Given the description of an element on the screen output the (x, y) to click on. 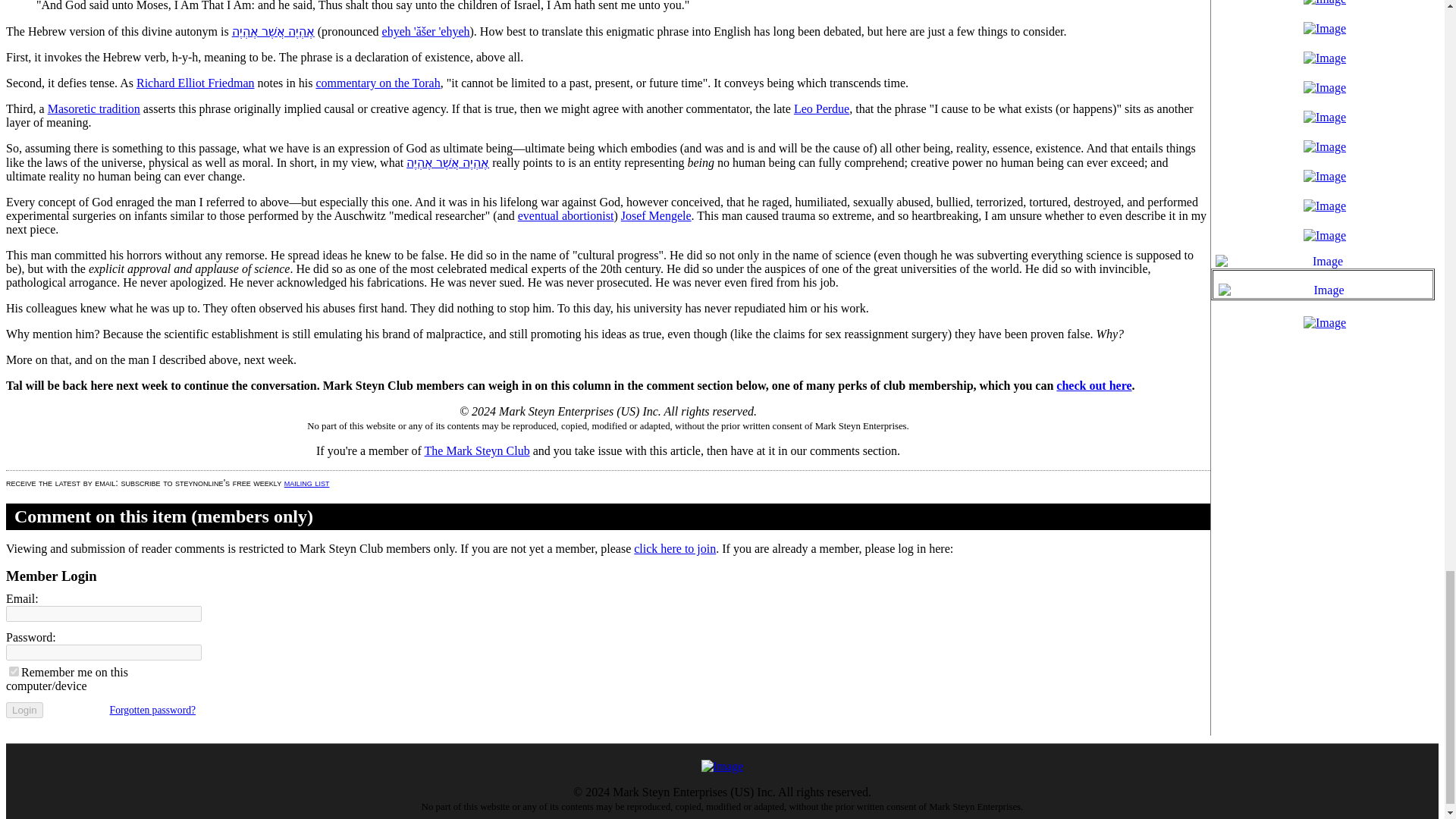
persist (13, 671)
Login (24, 709)
